Given the description of an element on the screen output the (x, y) to click on. 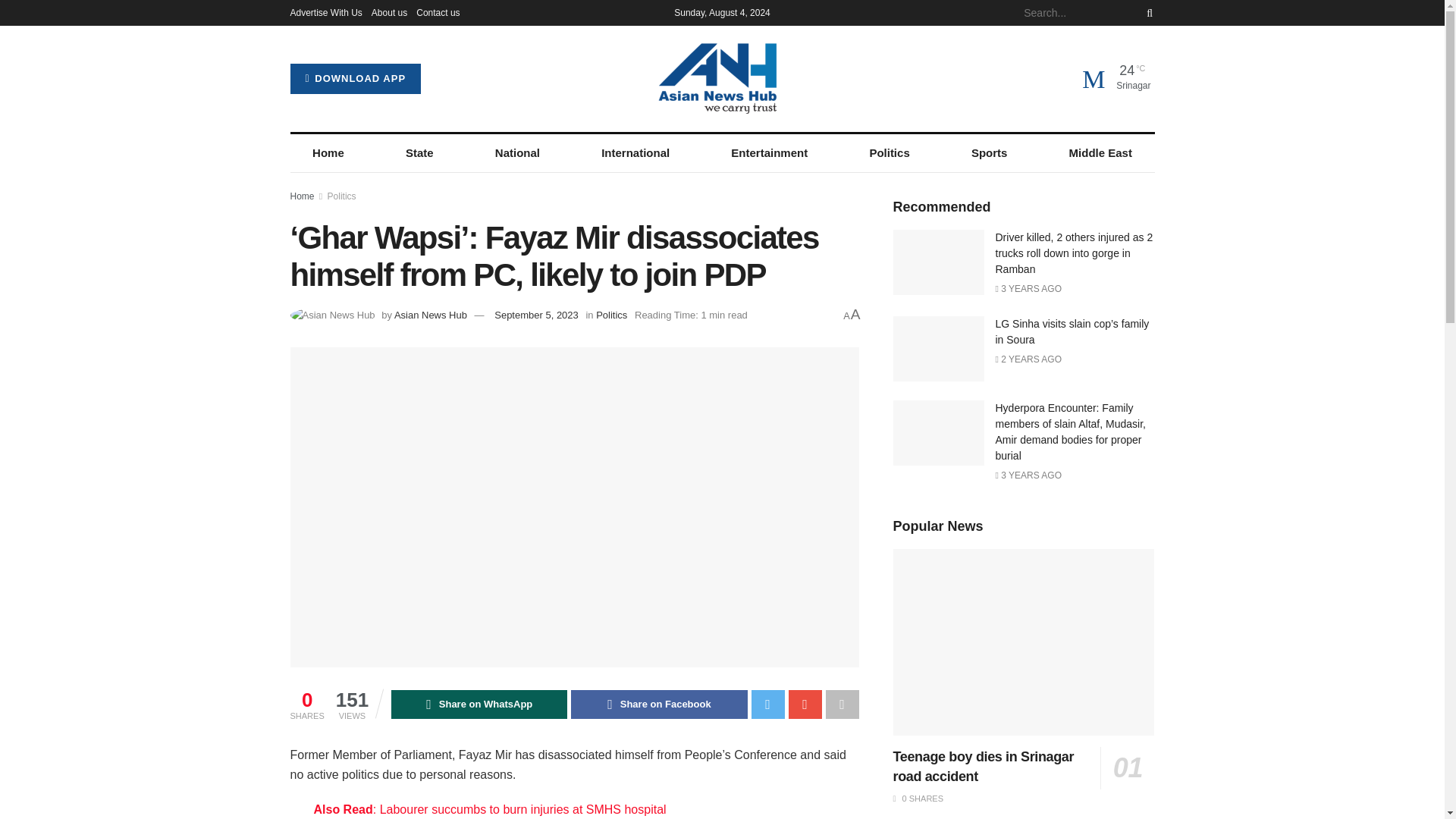
State (418, 152)
Sports (989, 152)
Home (301, 195)
Middle East (1100, 152)
National (516, 152)
Advertise With Us (325, 12)
Contact us (438, 12)
Entertainment (769, 152)
About us (389, 12)
Politics (341, 195)
Home (327, 152)
International (636, 152)
Politics (890, 152)
DOWNLOAD APP (354, 78)
